Given the description of an element on the screen output the (x, y) to click on. 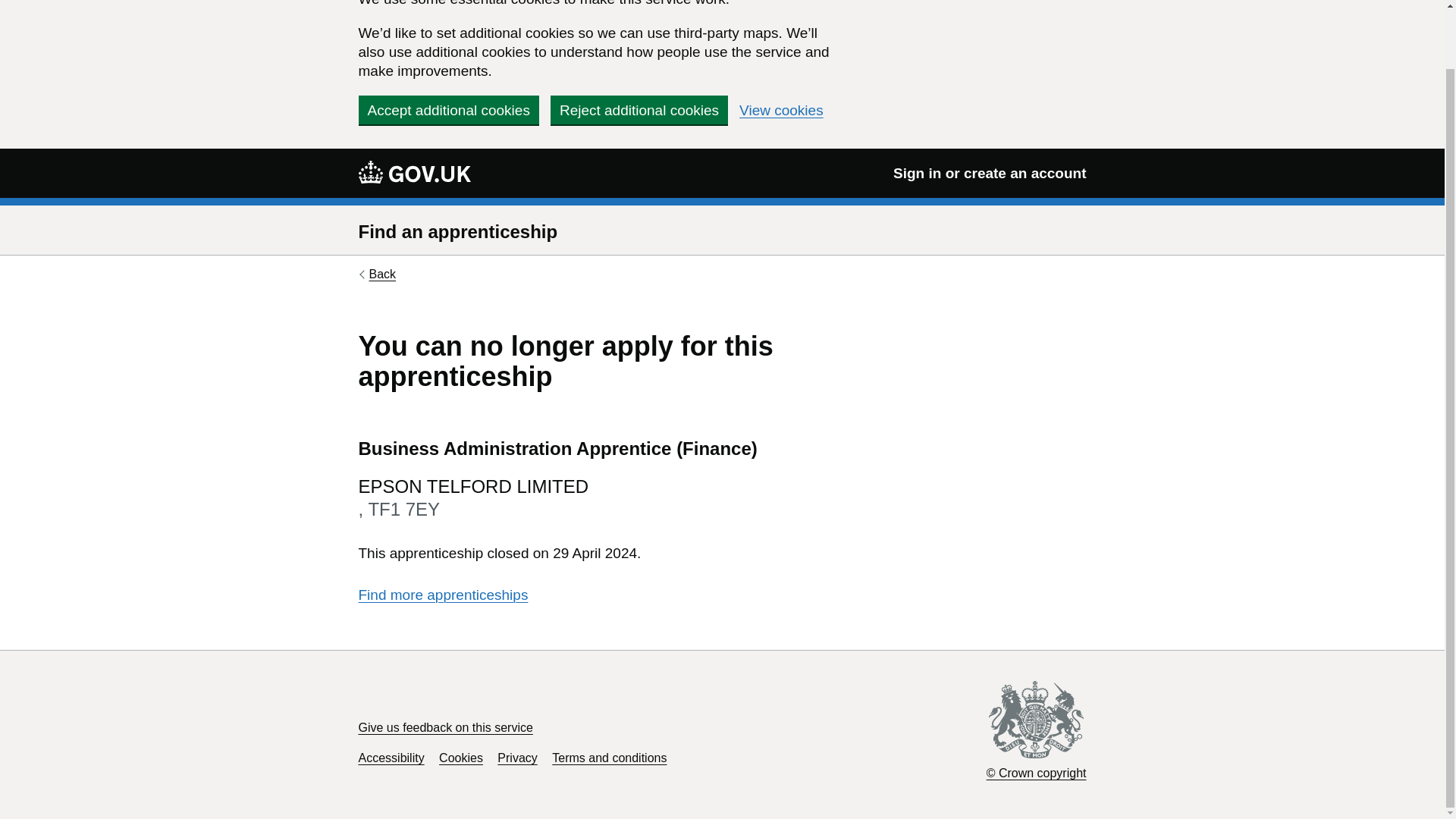
Accessibility (390, 757)
GOV.UK (414, 172)
Cookies (461, 757)
Terms and conditions (608, 757)
GOV.UK (414, 171)
Accept additional cookies (448, 109)
Back (377, 273)
View cookies (781, 110)
Privacy (517, 757)
Reject additional cookies (639, 109)
Sign in or create an account (989, 172)
Find more apprenticeships (442, 594)
Give us feedback on this service (445, 727)
